Given the description of an element on the screen output the (x, y) to click on. 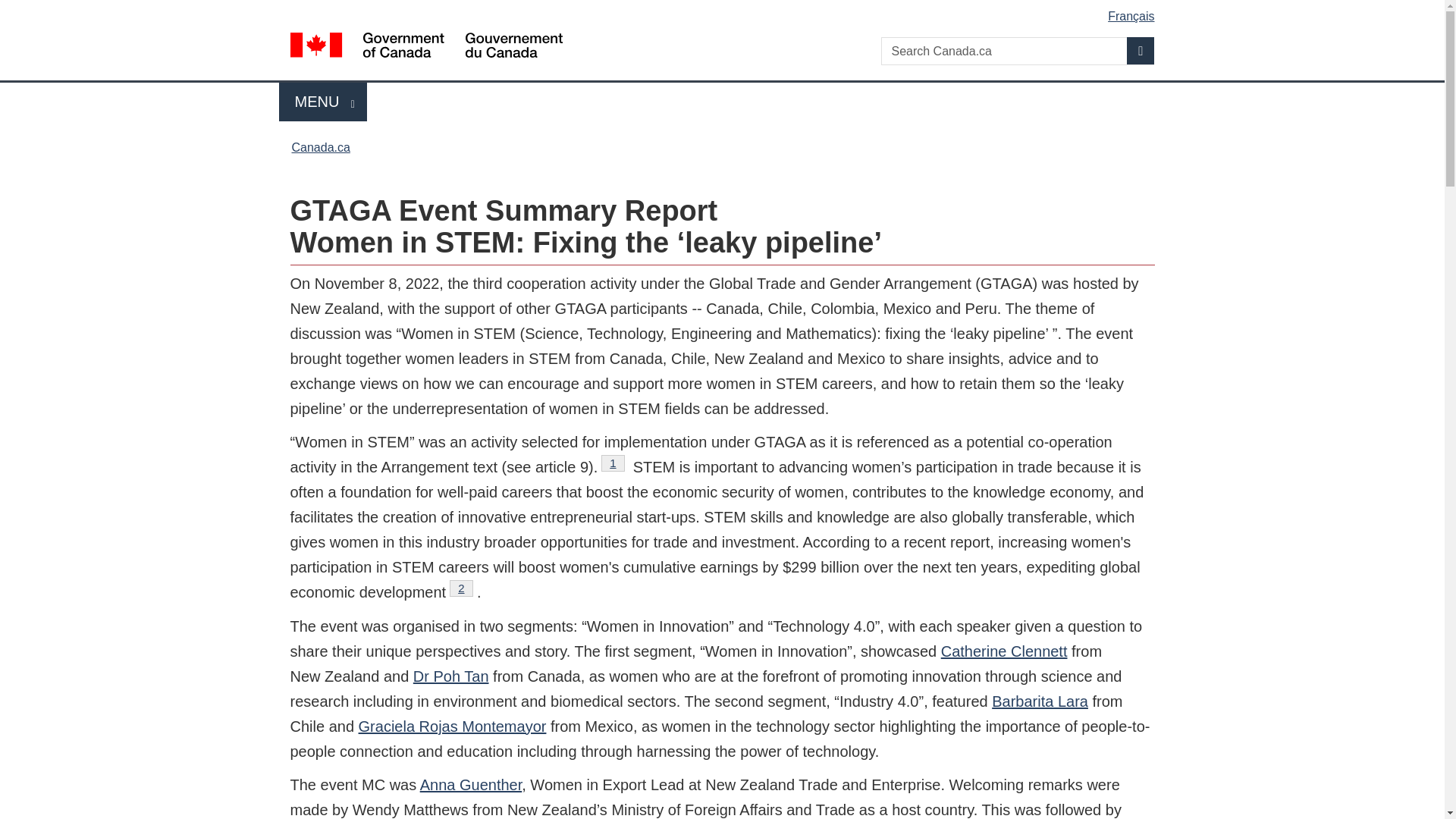
Government of Canada (425, 47)
Search (1140, 50)
Skip to main content (460, 588)
Barbarita Lara (725, 11)
Anna Guenther (612, 463)
Canada.ca (1039, 701)
Graciela Rojas Montemayor (471, 784)
Catherine Clennett (320, 147)
